Given the description of an element on the screen output the (x, y) to click on. 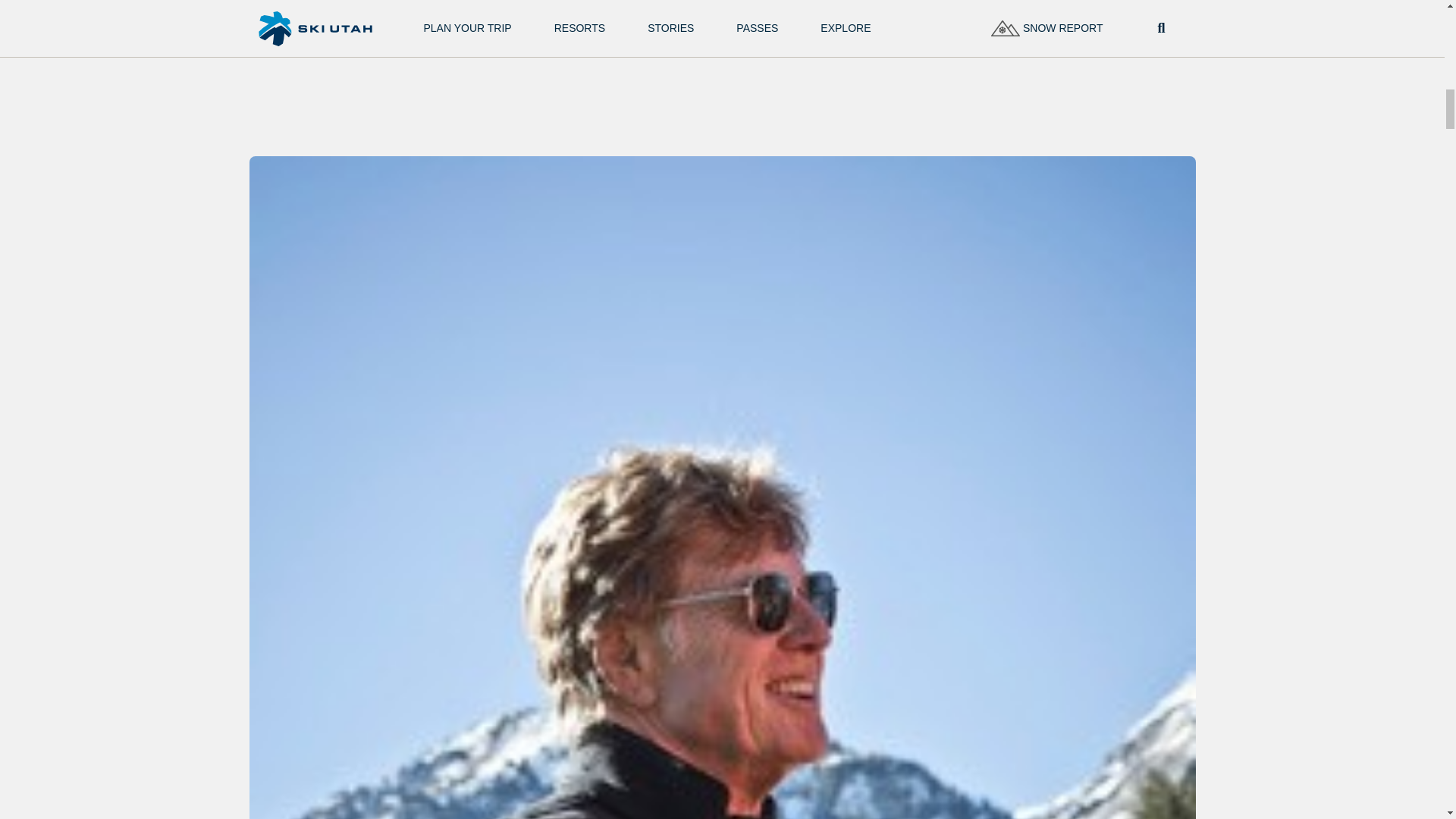
3rd party ad content (705, 59)
